Given the description of an element on the screen output the (x, y) to click on. 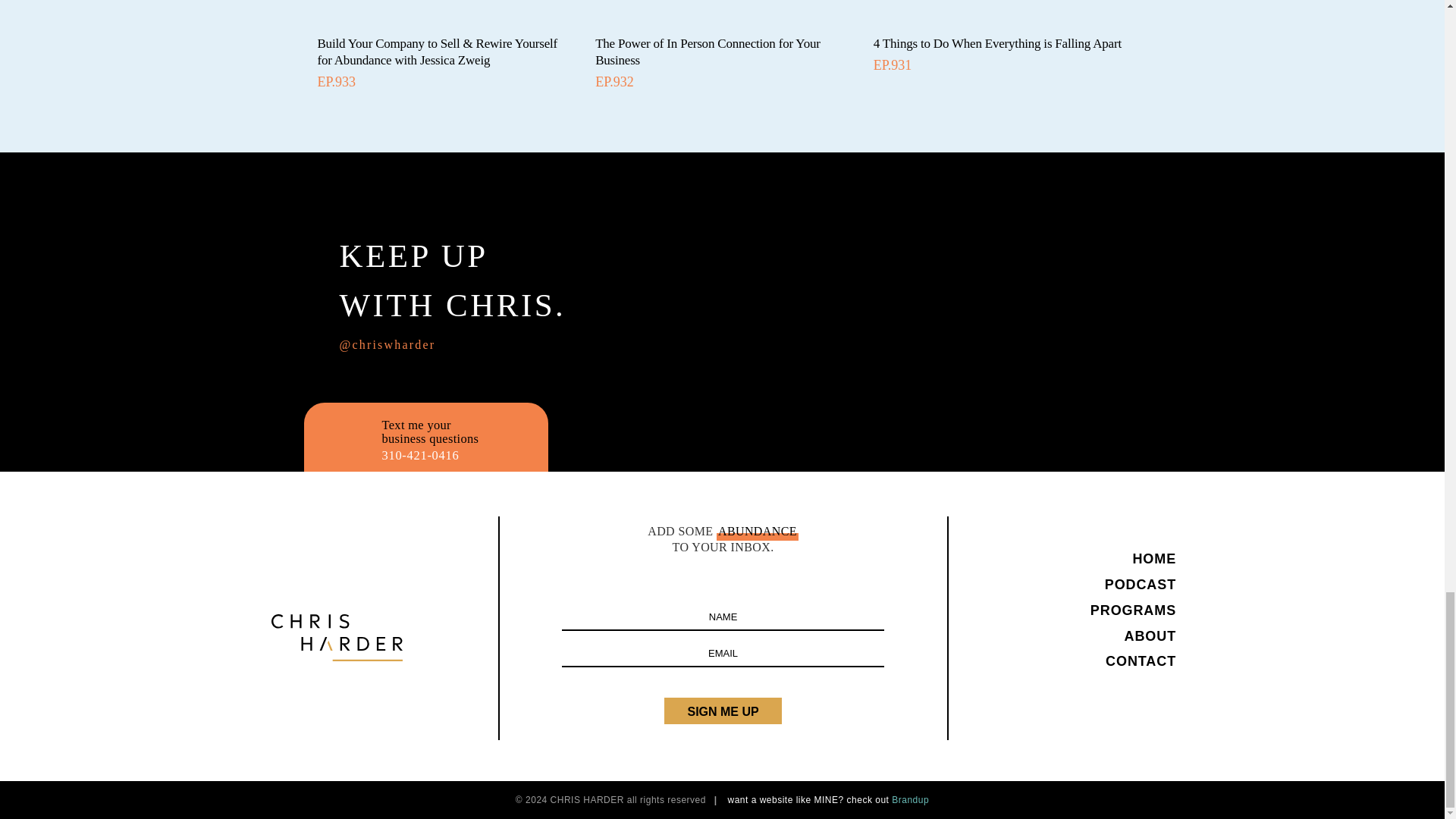
4 Things to Do When Everything is Falling Apart (997, 43)
Sign me up (721, 710)
The Power of In Person Connection for Your Business (708, 51)
